Given the description of an element on the screen output the (x, y) to click on. 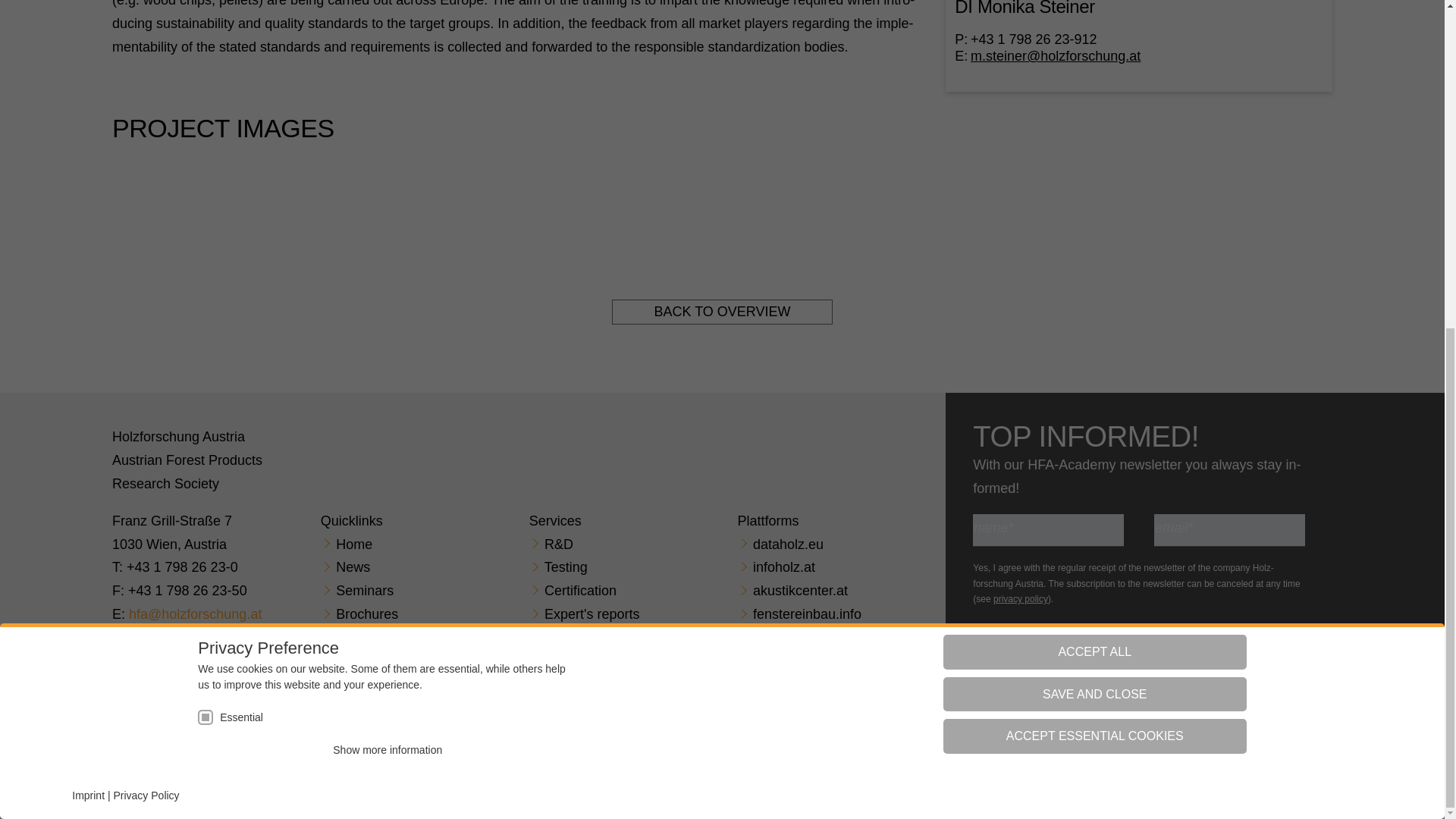
Websites and Digital Communication (1238, 721)
E-Mail an Holzforschung Austria schreiben (195, 613)
read privacy policy (1020, 598)
Holzforschung Austria anrufen (182, 566)
